Given the description of an element on the screen output the (x, y) to click on. 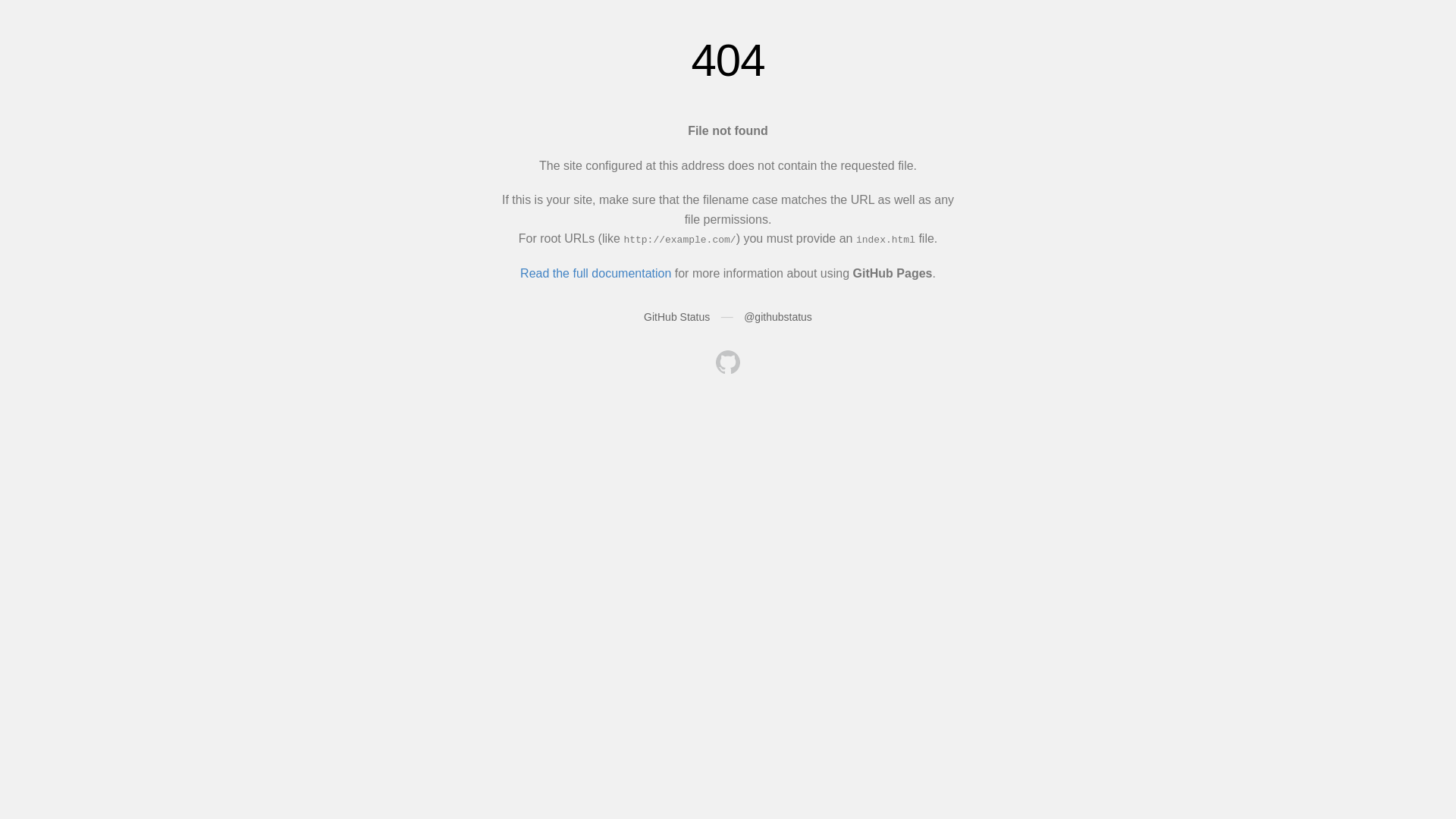
@githubstatus Element type: text (777, 316)
GitHub Status Element type: text (676, 316)
Read the full documentation Element type: text (595, 272)
